Given the description of an element on the screen output the (x, y) to click on. 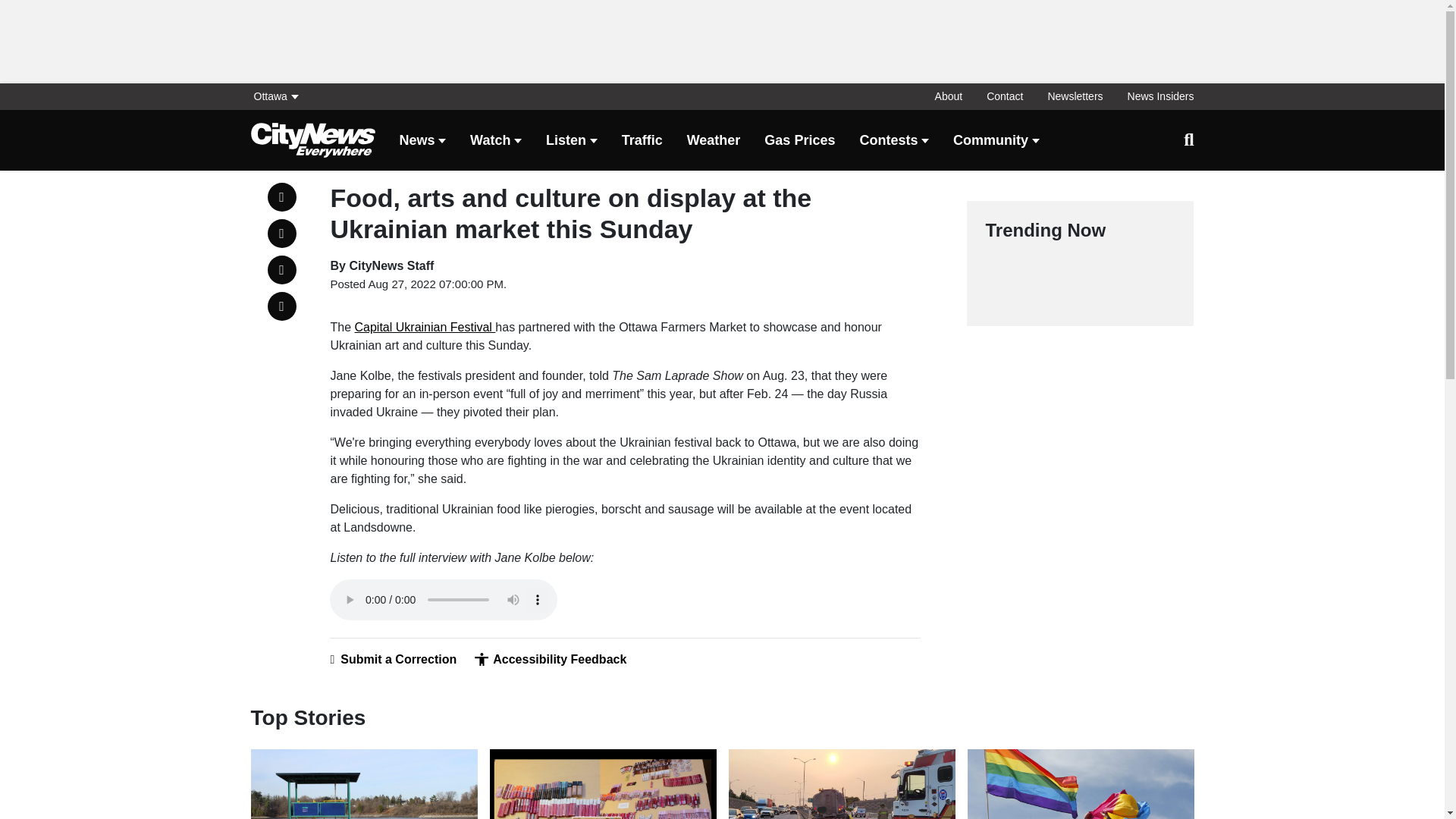
Contests (893, 140)
Traffic (641, 140)
News (421, 140)
Accessibility Feedback (550, 658)
Gas Prices (799, 140)
Submit a Correction (393, 658)
Contact (1004, 96)
About (949, 96)
Ottawa (279, 96)
Watch (495, 140)
